Given the description of an element on the screen output the (x, y) to click on. 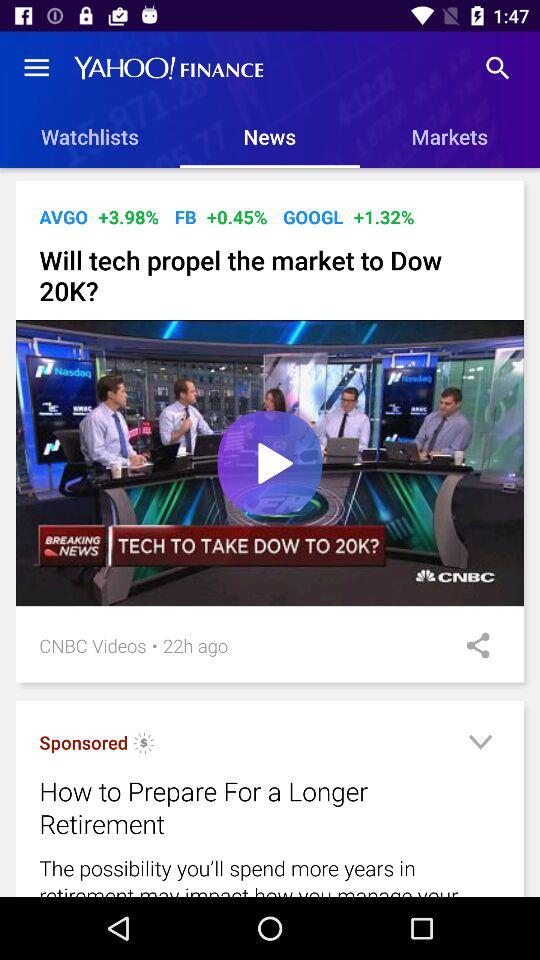
flip to the googl item (313, 216)
